Given the description of an element on the screen output the (x, y) to click on. 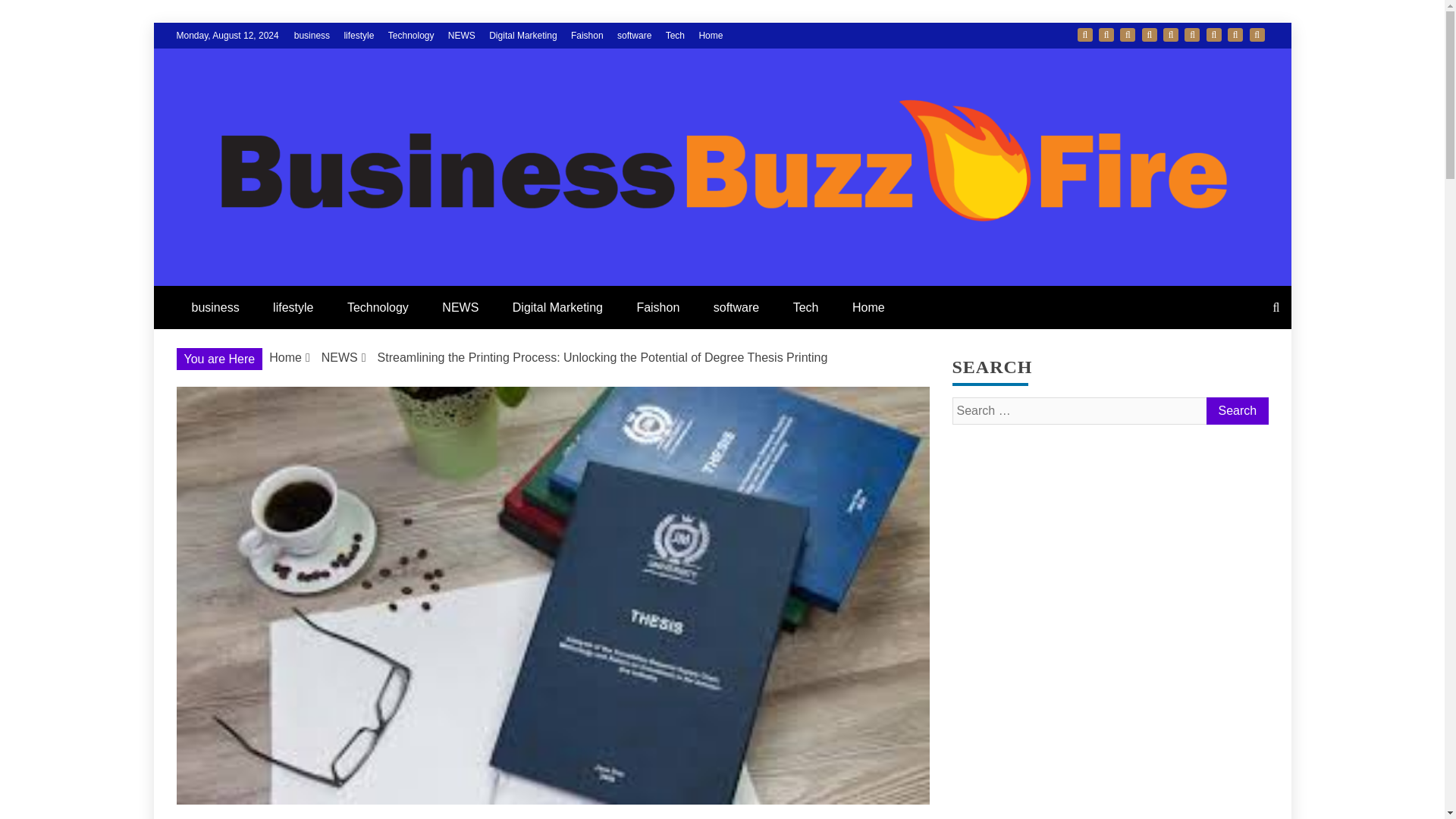
NEWS (459, 307)
Faishon (1192, 34)
Search (1236, 411)
business (214, 307)
Digital Marketing (1170, 34)
Technology (1127, 34)
NEWS (462, 35)
Digital Marketing (522, 35)
Digital Marketing (557, 307)
business (312, 35)
